Given the description of an element on the screen output the (x, y) to click on. 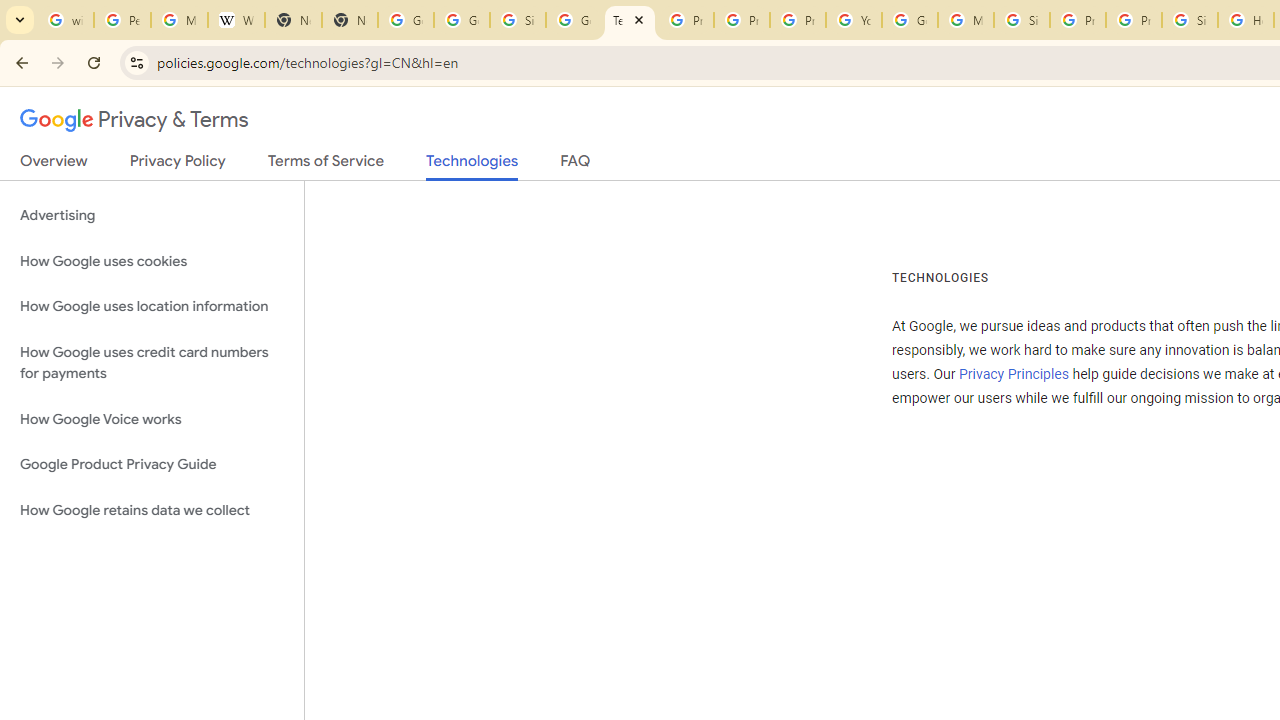
New Tab (293, 20)
